Given the description of an element on the screen output the (x, y) to click on. 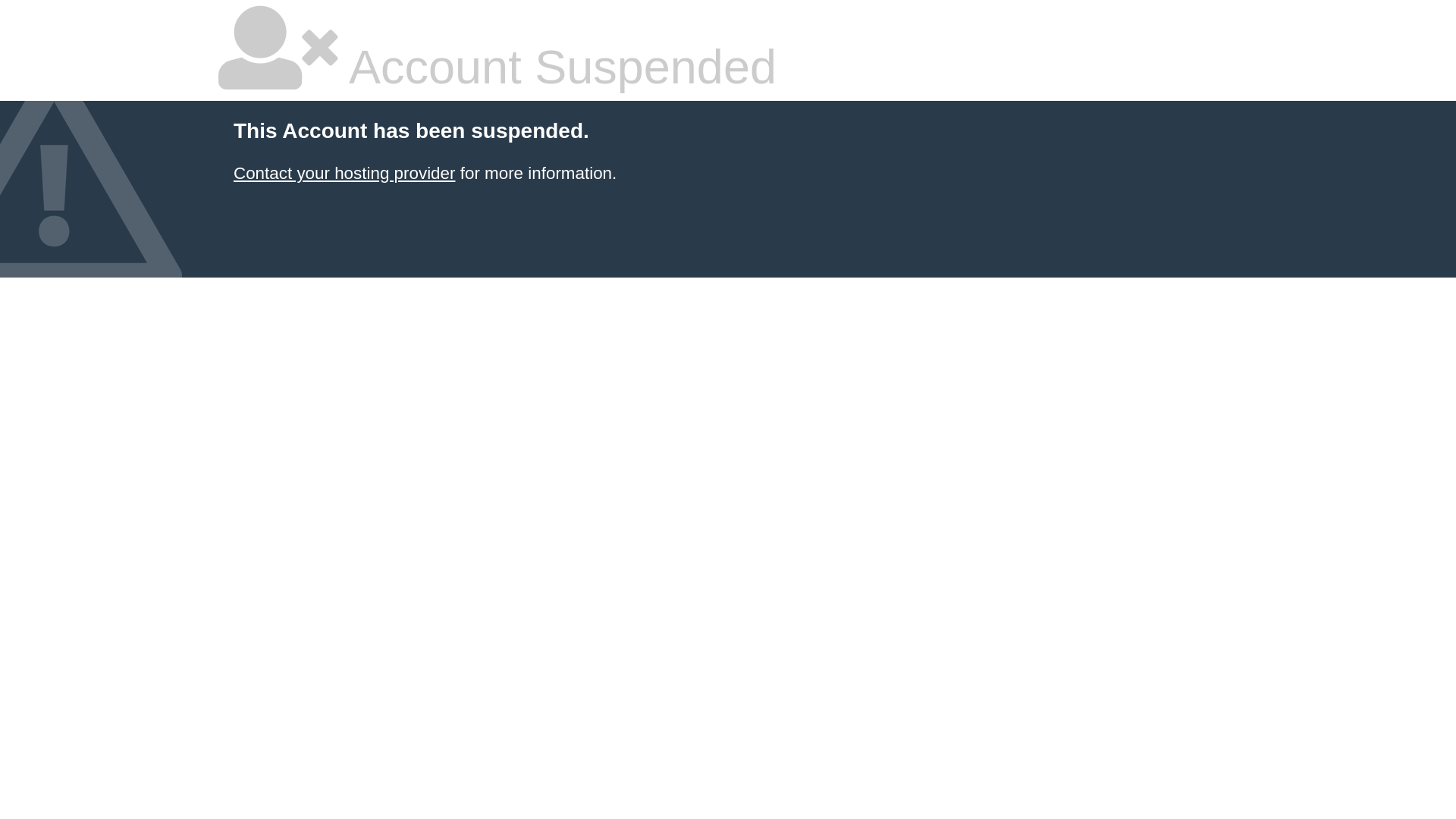
Contact your hosting provider Element type: text (344, 172)
